Given the description of an element on the screen output the (x, y) to click on. 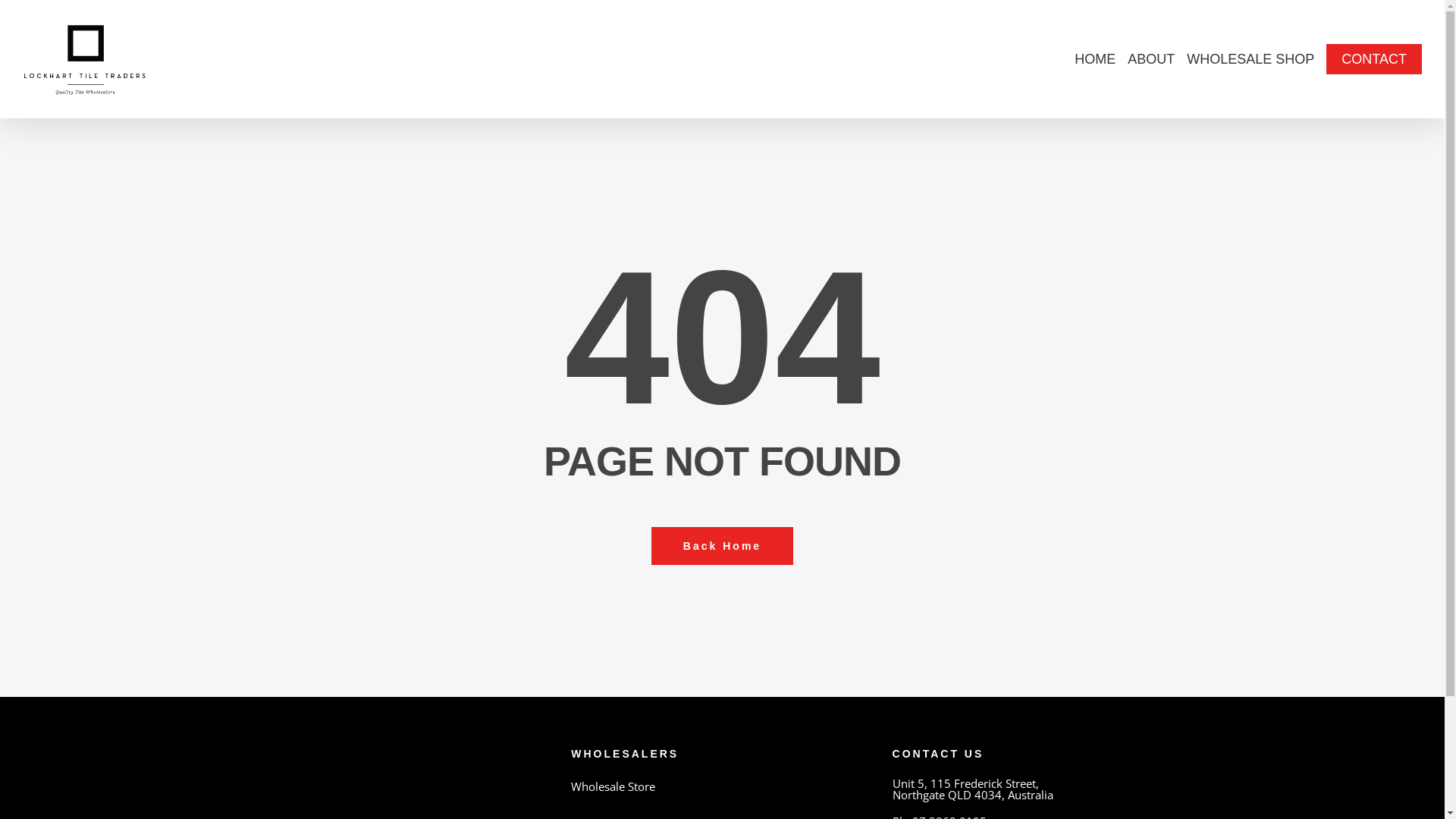
ABOUT Element type: text (1150, 58)
Wholesale Store Element type: text (721, 786)
Back Home Element type: text (722, 545)
WHOLESALE SHOP Element type: text (1250, 58)
CONTACT Element type: text (1373, 58)
HOME Element type: text (1094, 58)
